Given the description of an element on the screen output the (x, y) to click on. 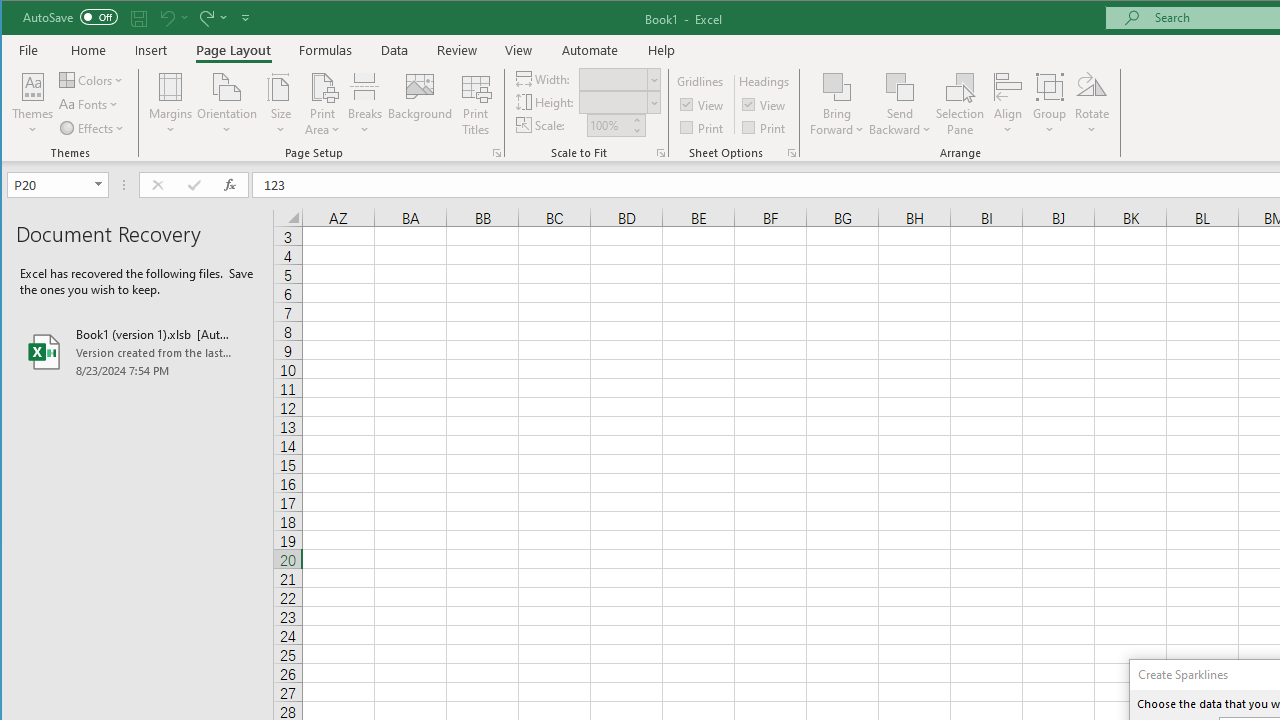
Align (1007, 104)
Bring Forward (836, 86)
Rotate (1092, 104)
Height (612, 102)
Send Backward (900, 86)
Colors (93, 80)
Background... (420, 104)
Bring Forward (836, 104)
